Given the description of an element on the screen output the (x, y) to click on. 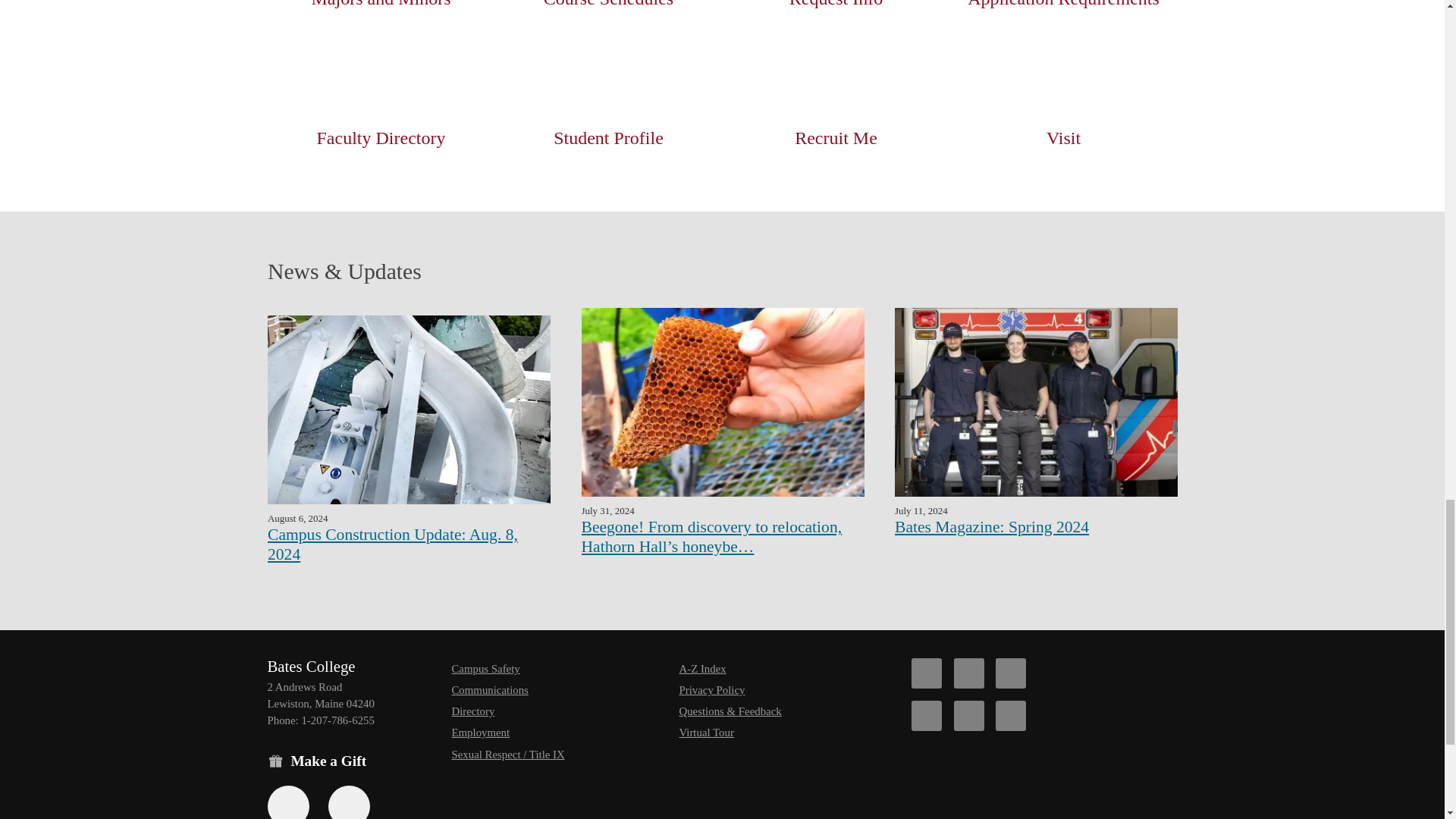
YouTube icon (968, 716)
LinkedIn icon (1010, 716)
Tiktok icon (1010, 673)
Instagram icon (926, 716)
Facebook icon (926, 673)
Twitter icon (968, 673)
